Given the description of an element on the screen output the (x, y) to click on. 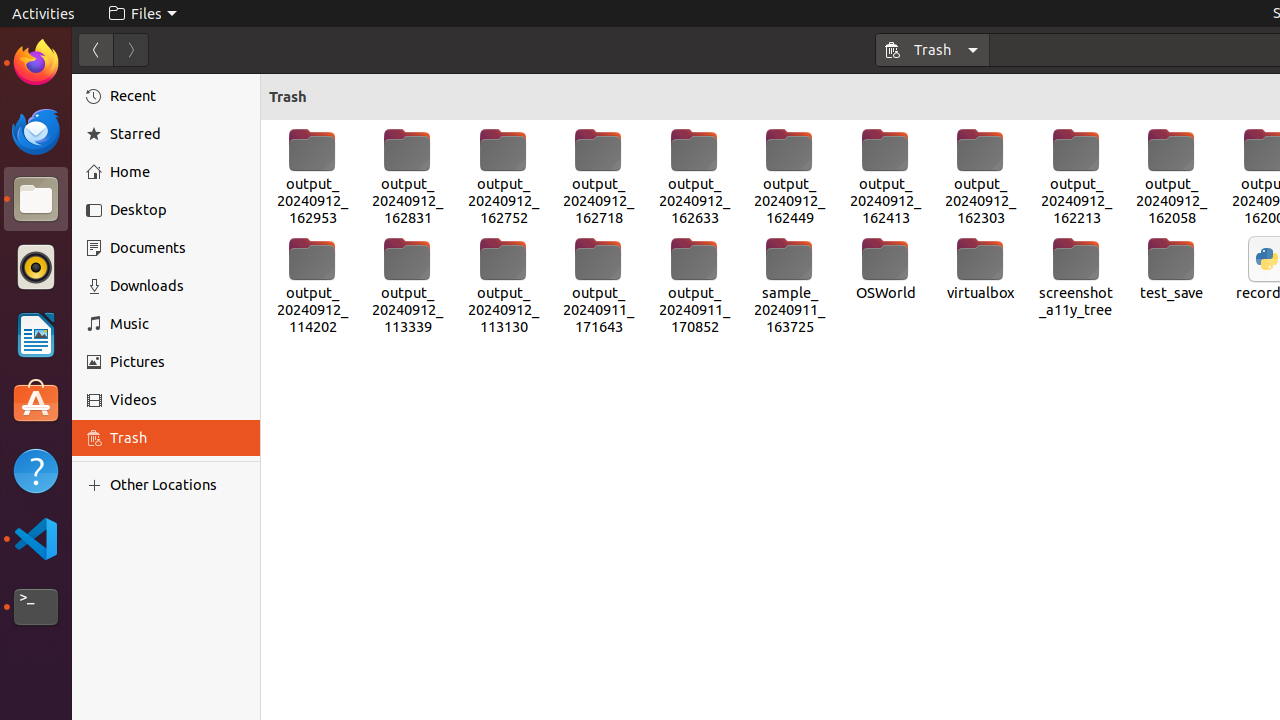
output_20240912_162953 Element type: canvas (312, 177)
output_20240912_162449 Element type: canvas (790, 177)
output_20240912_162718 Element type: canvas (598, 177)
screenshot_a11y_tree Element type: canvas (1076, 277)
Other Locations Element type: label (178, 485)
